Given the description of an element on the screen output the (x, y) to click on. 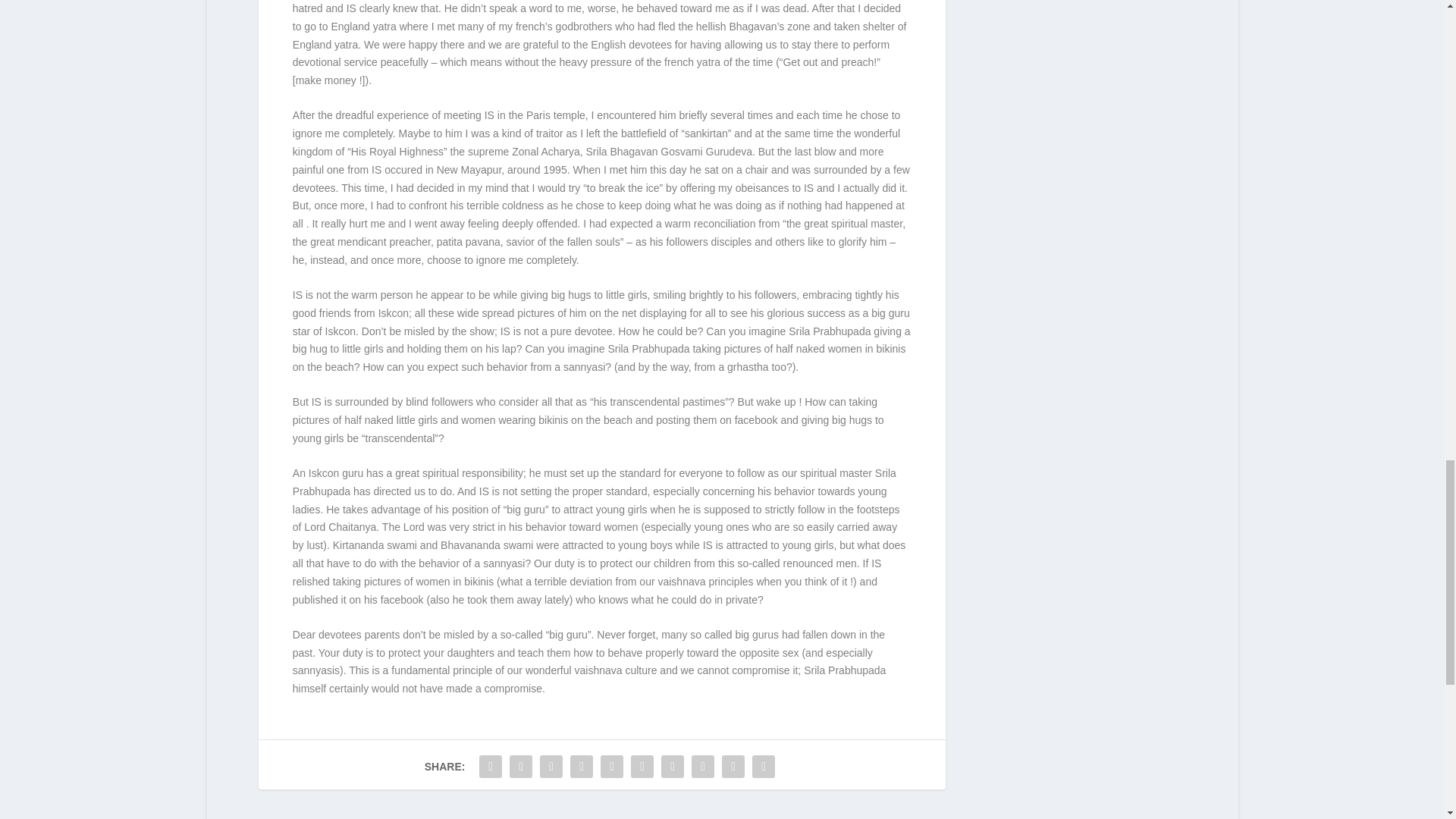
Share "The Two Faces of Indradyumna Swami" via Tumblr (581, 766)
Share "The Two Faces of Indradyumna Swami" via Print (763, 766)
Share "The Two Faces of Indradyumna Swami" via Pinterest (611, 766)
Share "The Two Faces of Indradyumna Swami" via Buffer (672, 766)
Share "The Two Faces of Indradyumna Swami" via Twitter (520, 766)
Share "The Two Faces of Indradyumna Swami" via Facebook (490, 766)
Share "The Two Faces of Indradyumna Swami" via LinkedIn (642, 766)
Share "The Two Faces of Indradyumna Swami" via Email (732, 766)
Share "The Two Faces of Indradyumna Swami" via Stumbleupon (702, 766)
